Given the description of an element on the screen output the (x, y) to click on. 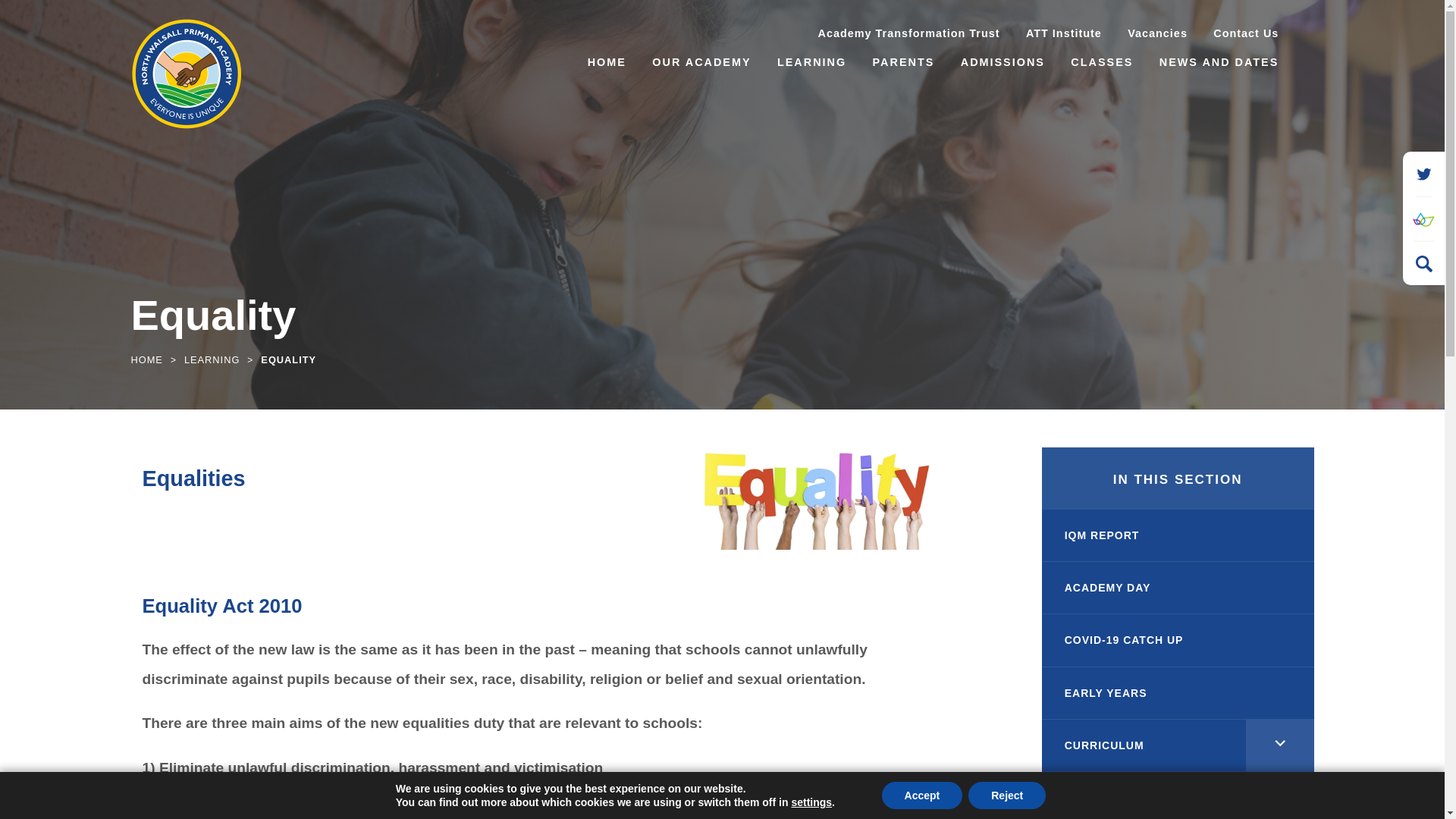
OUR ACADEMY (701, 63)
Equality (820, 498)
HOME (607, 63)
LEARNING (811, 63)
